Given the description of an element on the screen output the (x, y) to click on. 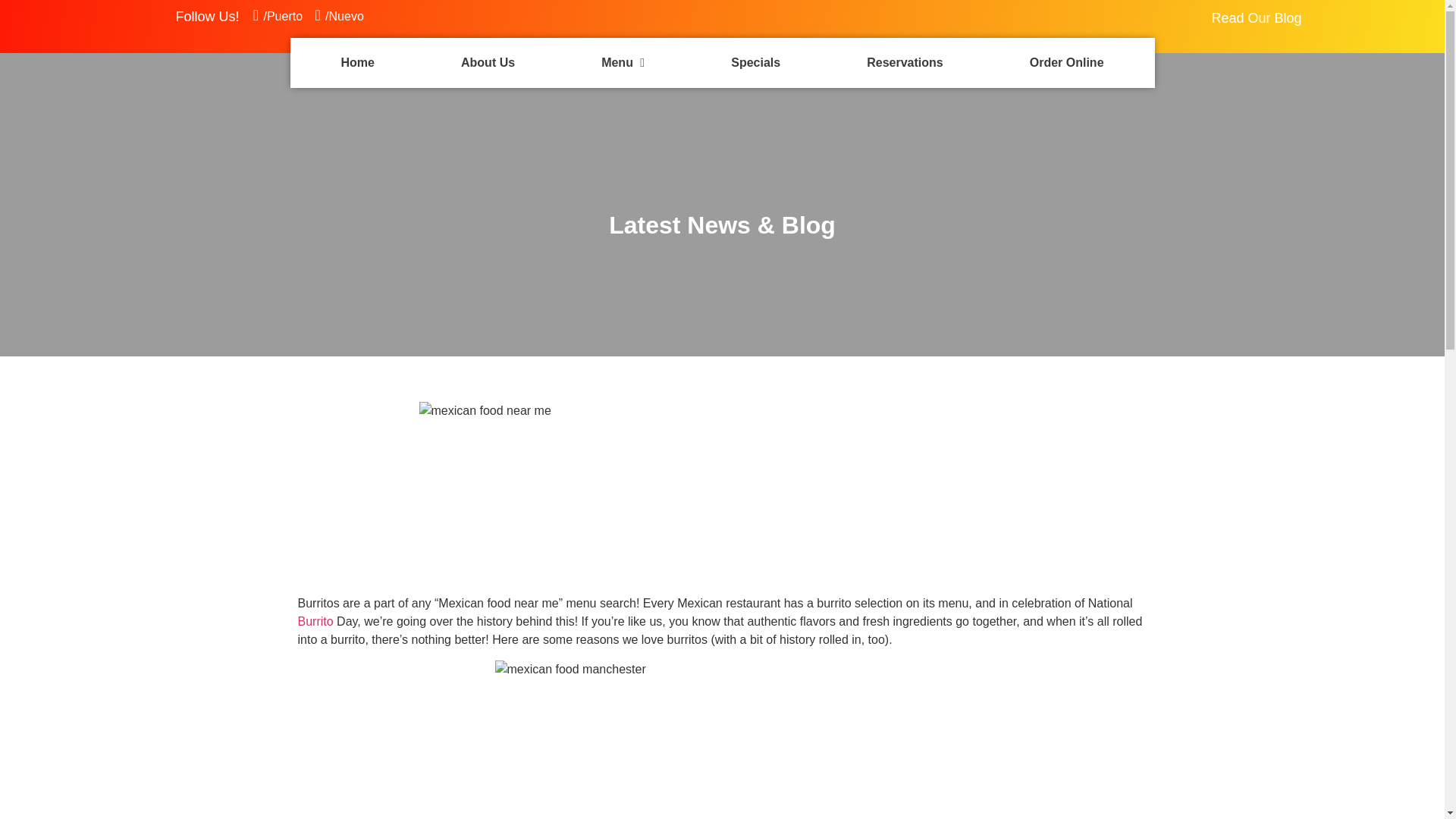
Home (356, 62)
Order Online (1067, 62)
Reservations (905, 62)
About Us (487, 62)
Menu (622, 62)
Specials (755, 62)
Read Our Blog (1256, 17)
